Given the description of an element on the screen output the (x, y) to click on. 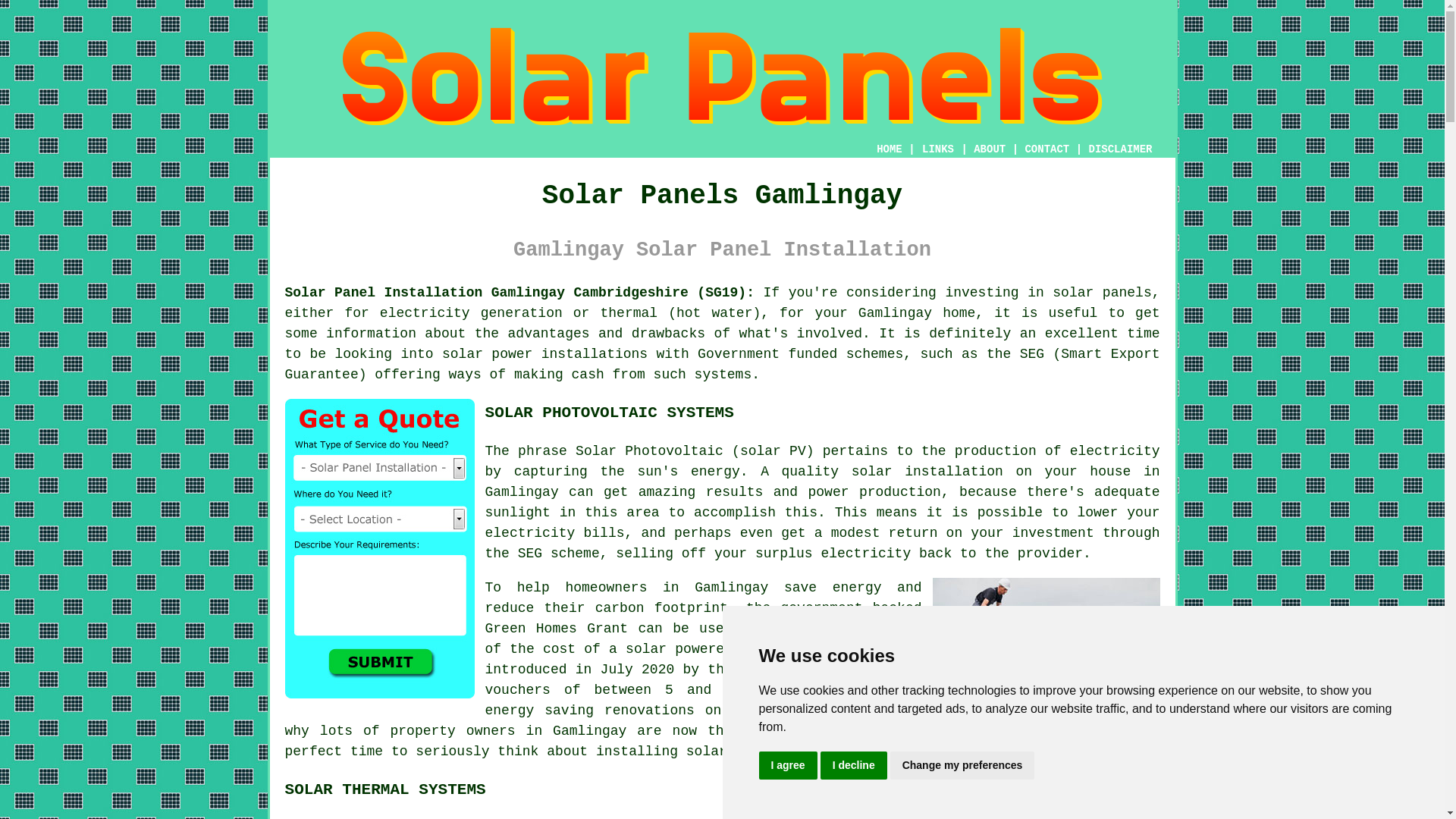
Change my preferences (962, 765)
solar panels (1101, 292)
HOME (889, 149)
I agree (787, 765)
I decline (853, 765)
solar panels (734, 751)
LINKS (938, 149)
solar PV (772, 450)
electricity (866, 553)
